Given the description of an element on the screen output the (x, y) to click on. 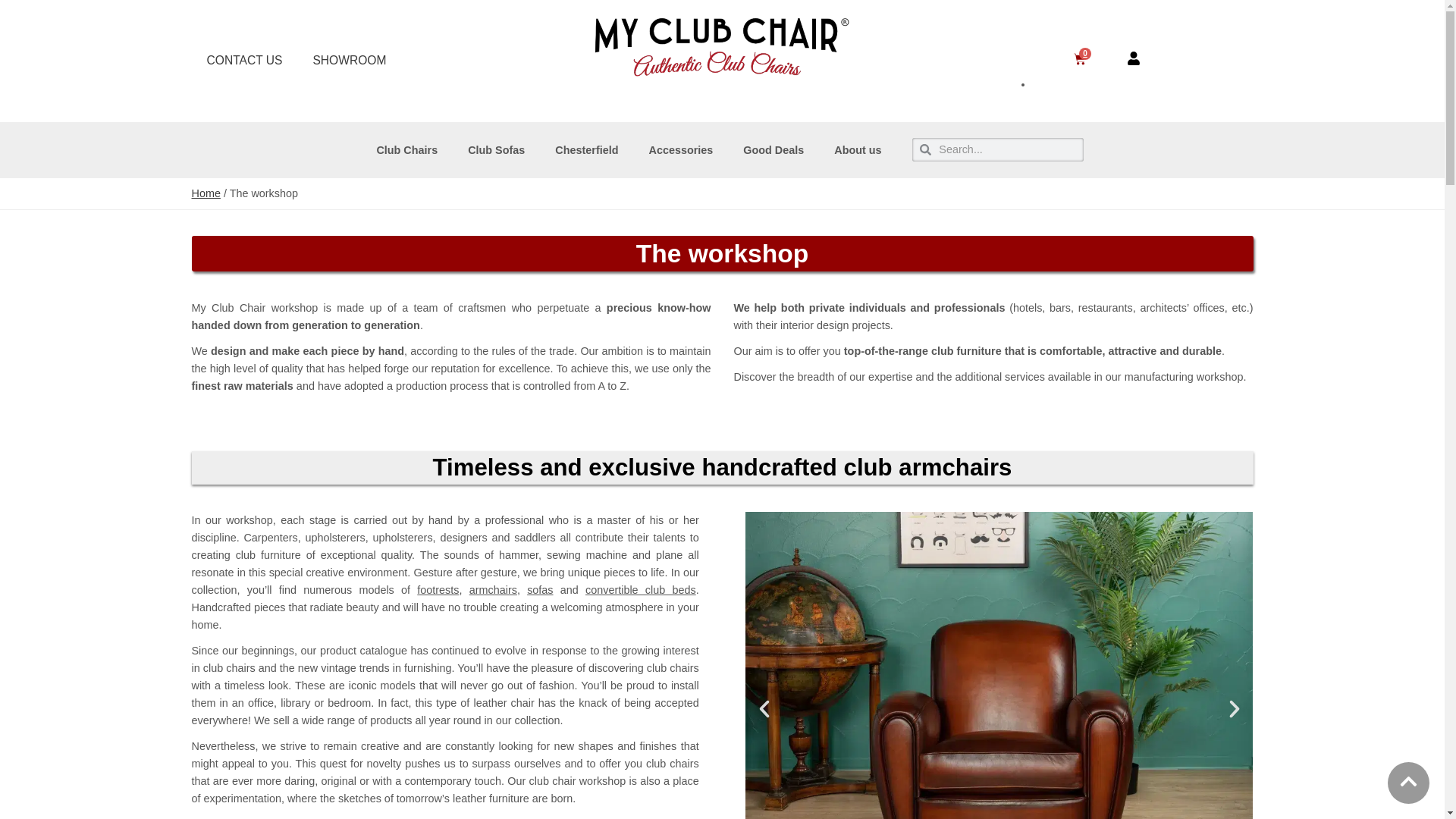
Good Deals (773, 149)
About us (857, 149)
0 (1079, 60)
My account (1133, 58)
Chesterfield (586, 149)
Accessories (680, 149)
SHOWROOM (349, 60)
Club Sofas (496, 149)
CONTACT US (243, 60)
Club Chairs (406, 149)
